Given the description of an element on the screen output the (x, y) to click on. 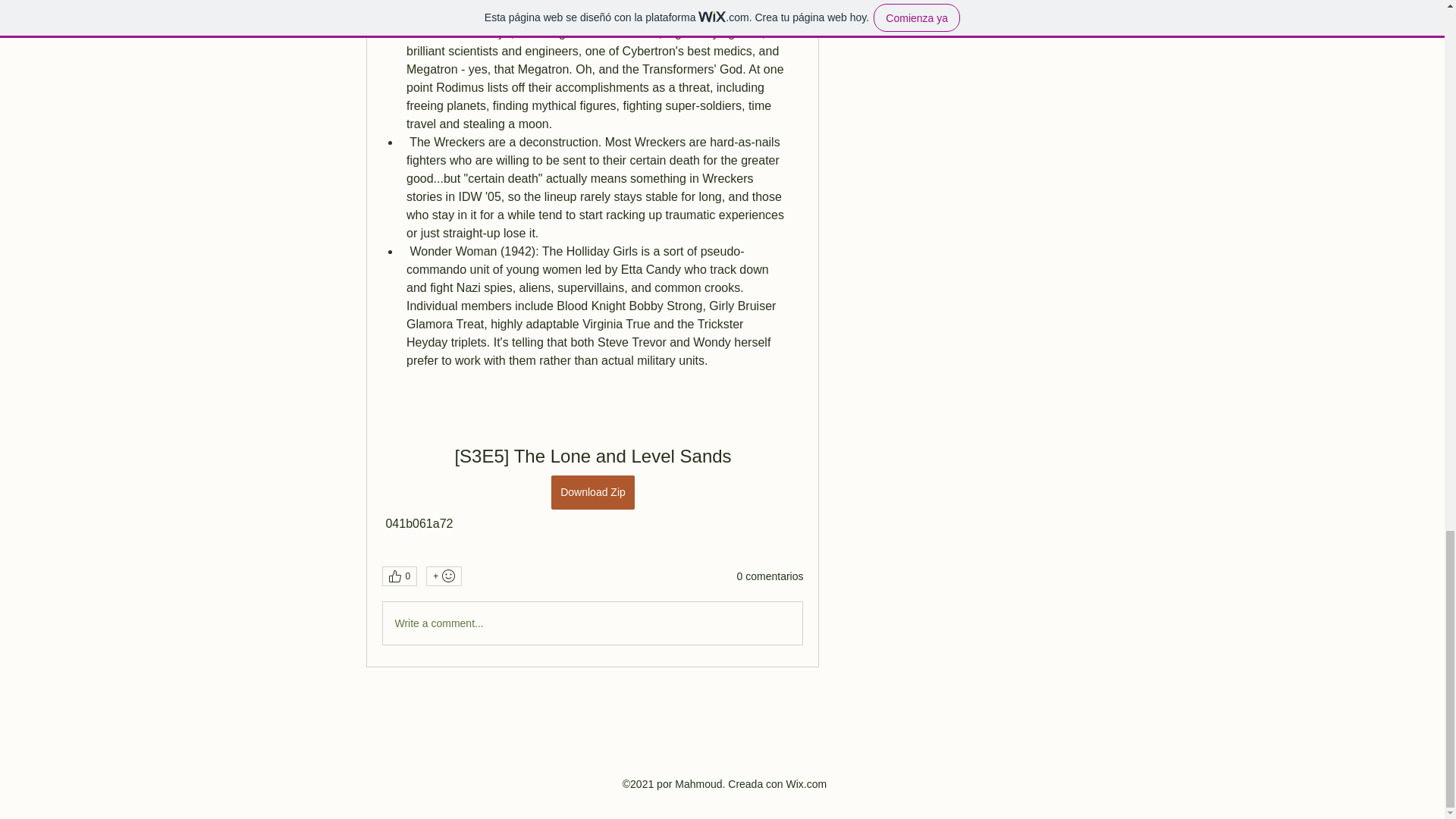
0 comentarios (769, 576)
Download Zip (592, 492)
Write a comment... (591, 622)
